Given the description of an element on the screen output the (x, y) to click on. 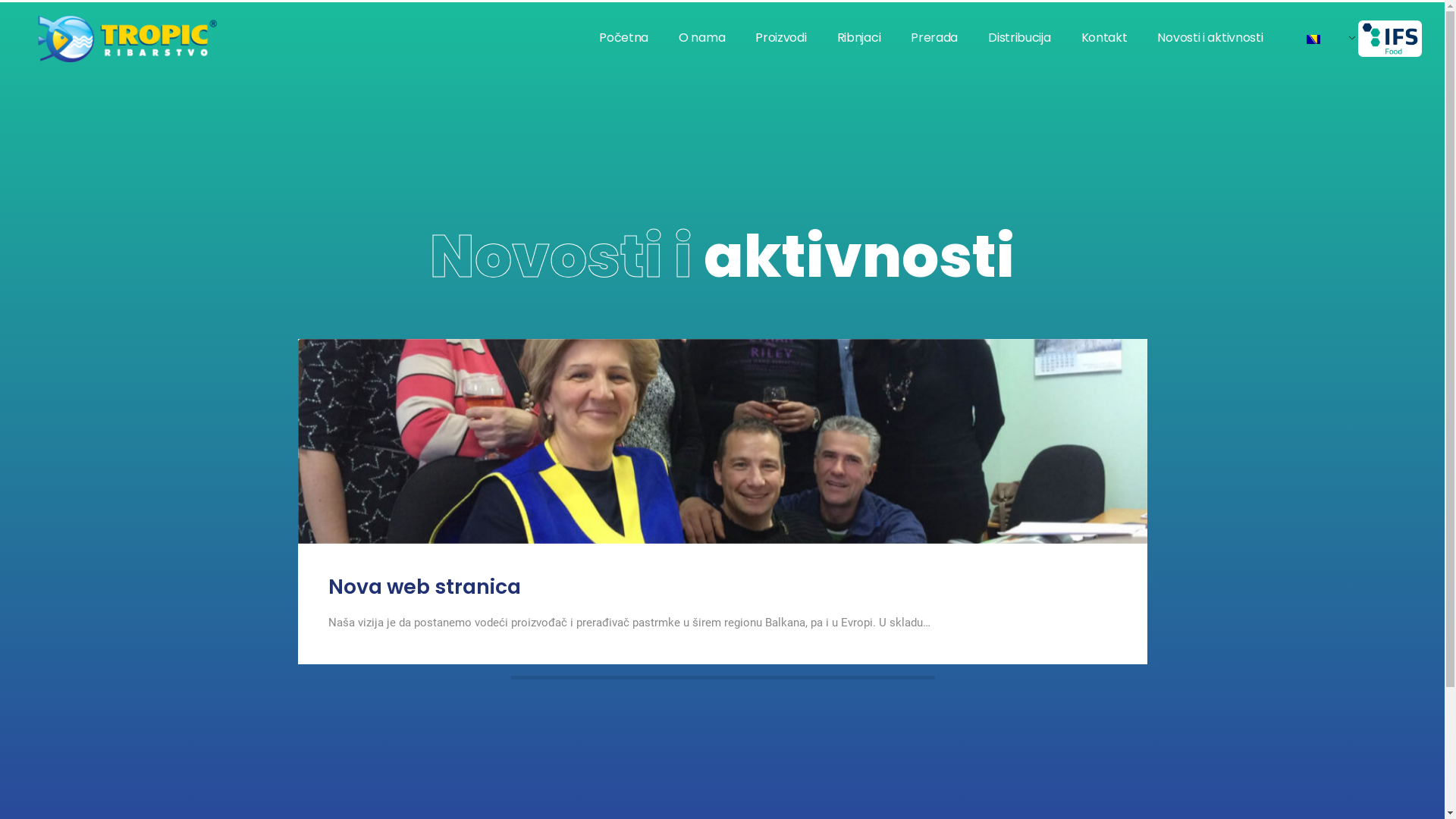
Novosti i aktivnosti Element type: text (1209, 37)
Distribucija Element type: text (1018, 37)
Nova web stranica Element type: text (423, 586)
Proizvodi Element type: text (780, 37)
Bosanski Element type: hover (1313, 38)
Prerada Element type: text (933, 37)
Bosanski Element type: hover (1325, 38)
Ribnjaci Element type: text (859, 37)
Kontakt Element type: text (1104, 37)
O nama Element type: text (701, 37)
